Given the description of an element on the screen output the (x, y) to click on. 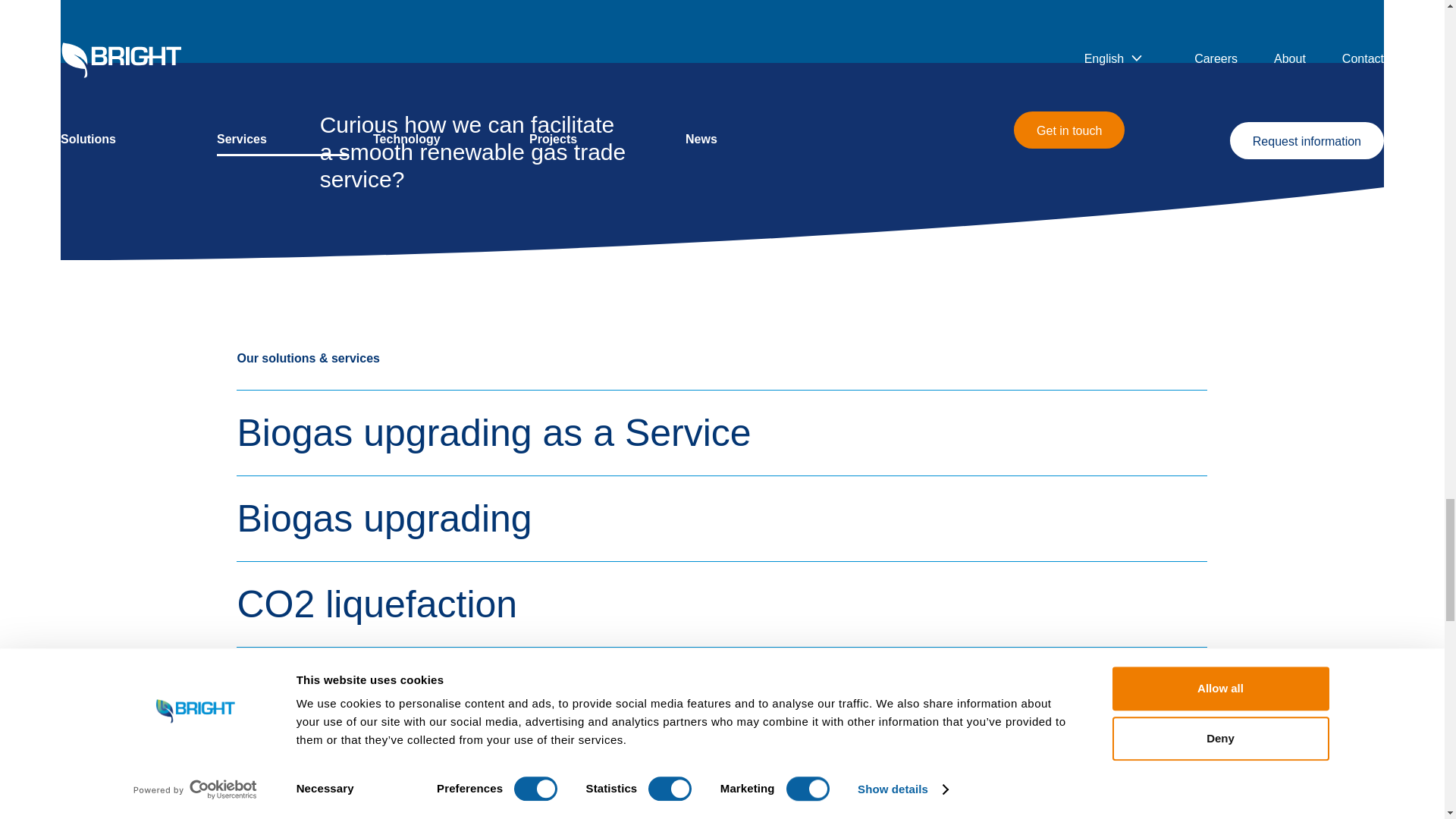
CO2 liquefaction (721, 604)
Biogas upgrading (721, 518)
Biogas upgrading as a Service (721, 432)
Carbon capture (721, 775)
